Given the description of an element on the screen output the (x, y) to click on. 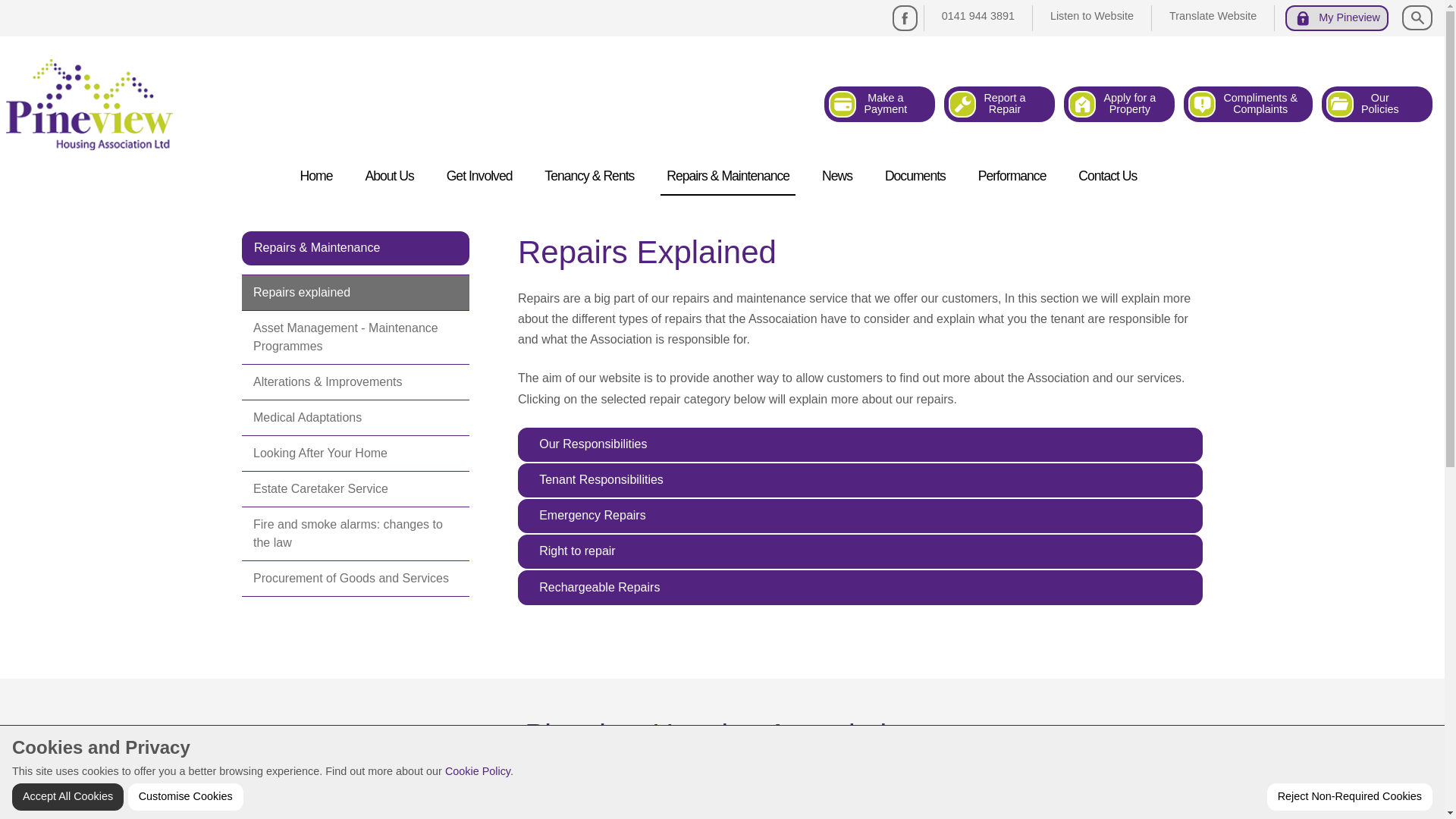
0141 944 3891 (978, 15)
Get Involved (479, 175)
My Pineview (1337, 17)
Home (998, 104)
Translate Website (1119, 104)
Listen to Website (316, 175)
Search (1212, 15)
About Us (1091, 15)
